Given the description of an element on the screen output the (x, y) to click on. 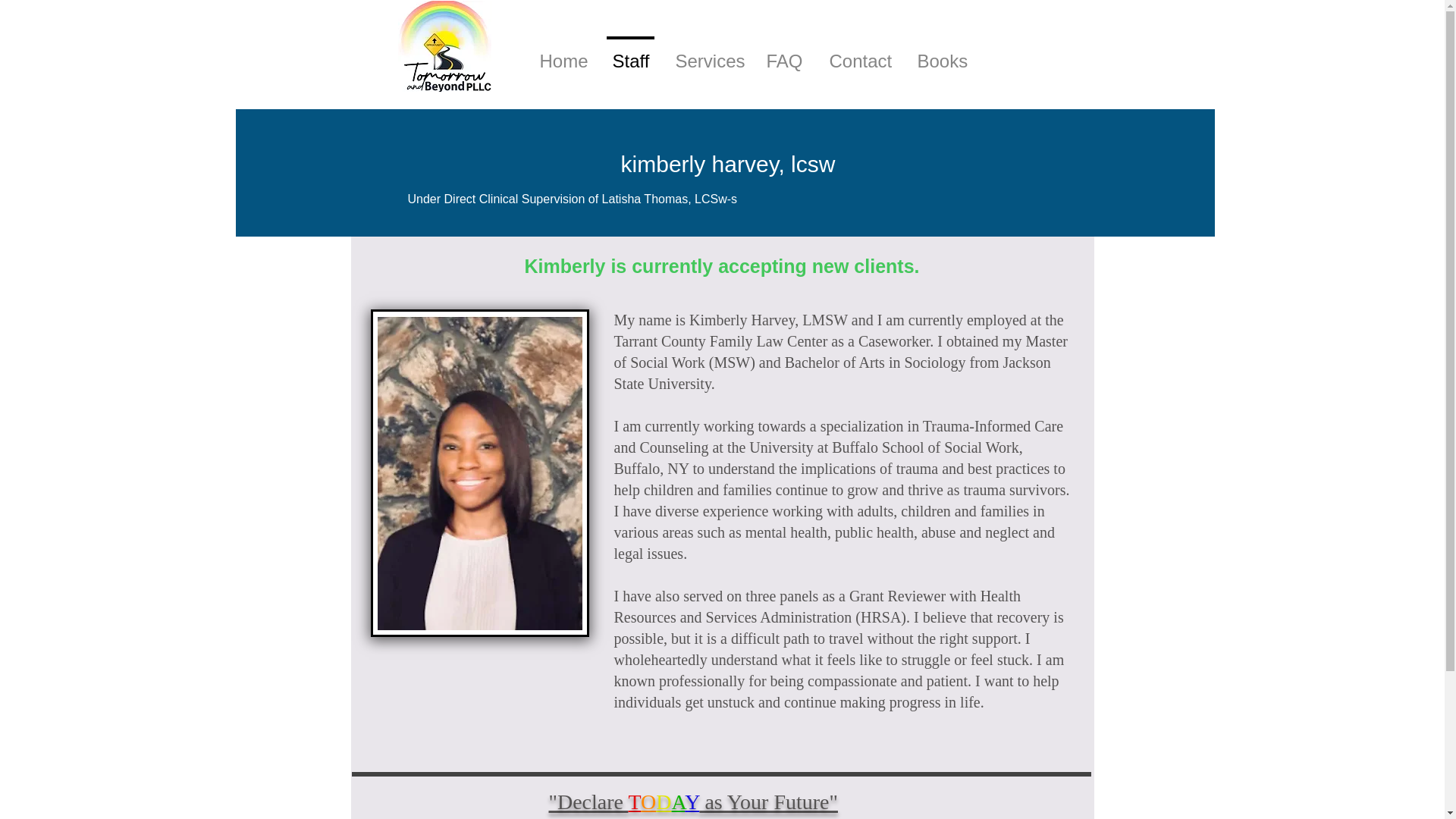
Books (940, 54)
Staff (630, 54)
Home (561, 54)
Services (706, 54)
Contact (859, 54)
FAQ (783, 54)
